Given the description of an element on the screen output the (x, y) to click on. 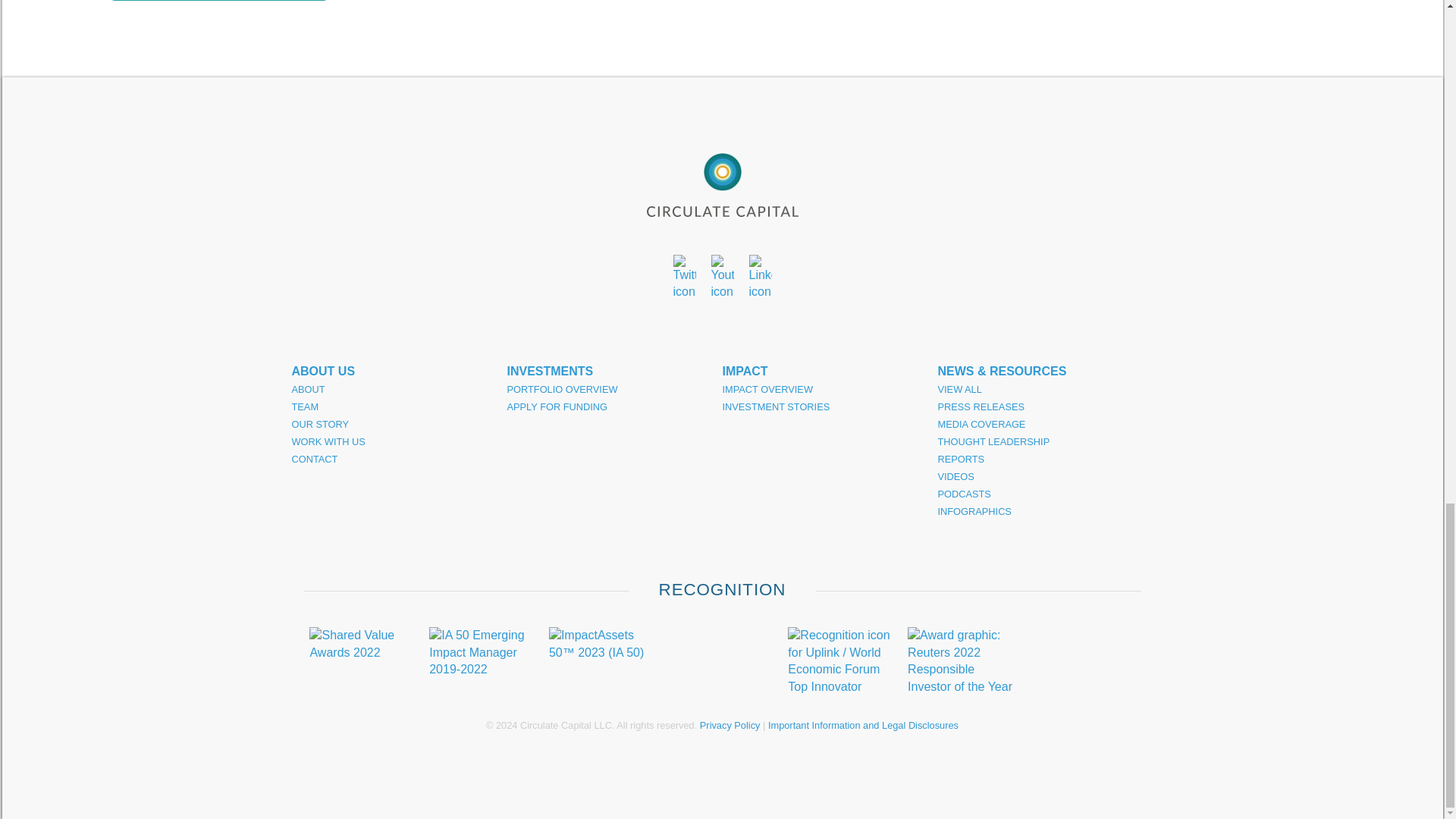
TEAM (398, 406)
PORTFOLIO OVERVIEW (614, 389)
APPLY FOR FUNDING (614, 406)
ABOUT US (398, 371)
WORK WITH US (398, 441)
OUR STORY (398, 424)
ABOUT (398, 389)
CONTACT (398, 458)
INVESTMENTS (614, 371)
